Given the description of an element on the screen output the (x, y) to click on. 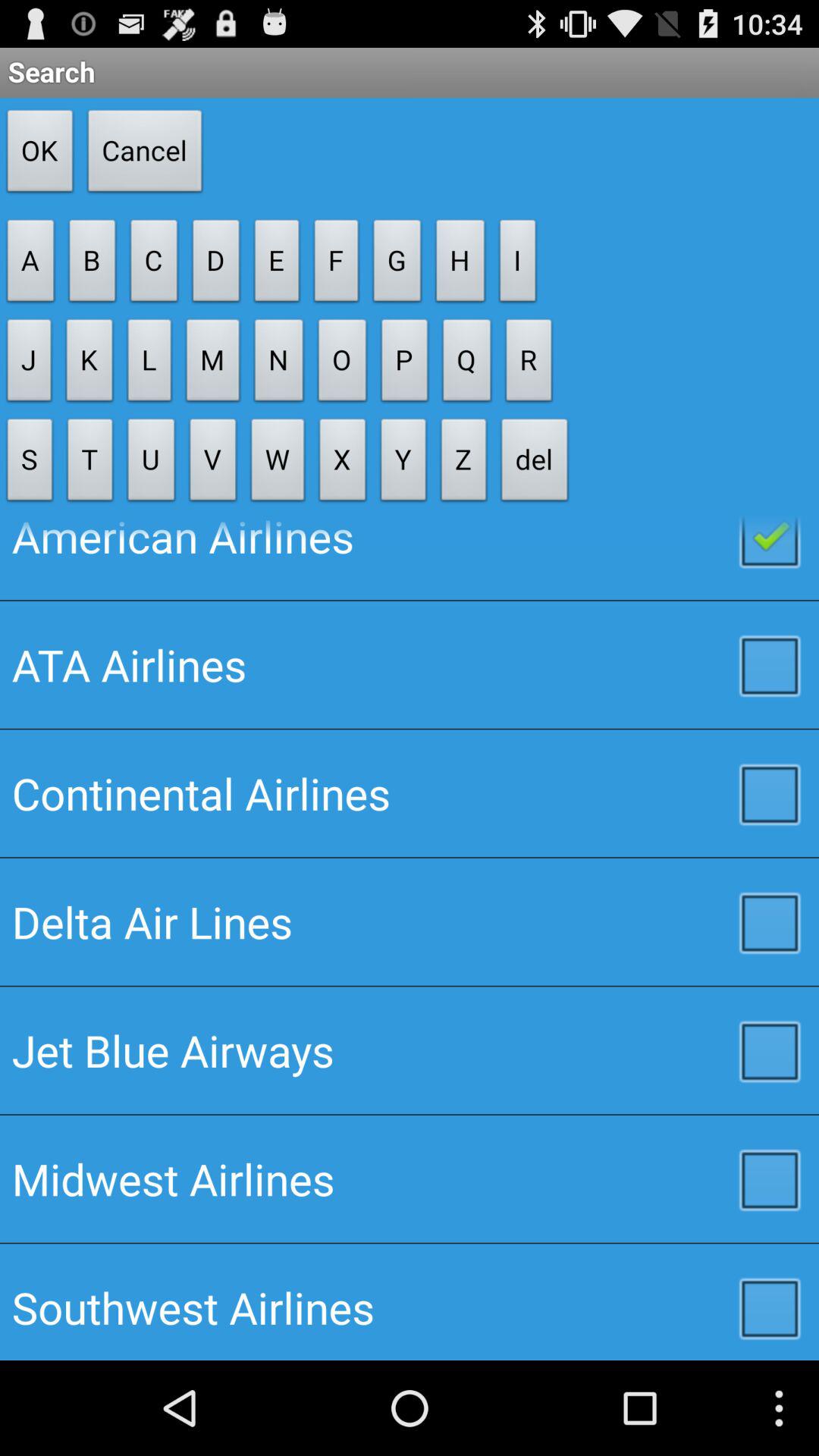
press the item above the delta air lines checkbox (409, 793)
